Given the description of an element on the screen output the (x, y) to click on. 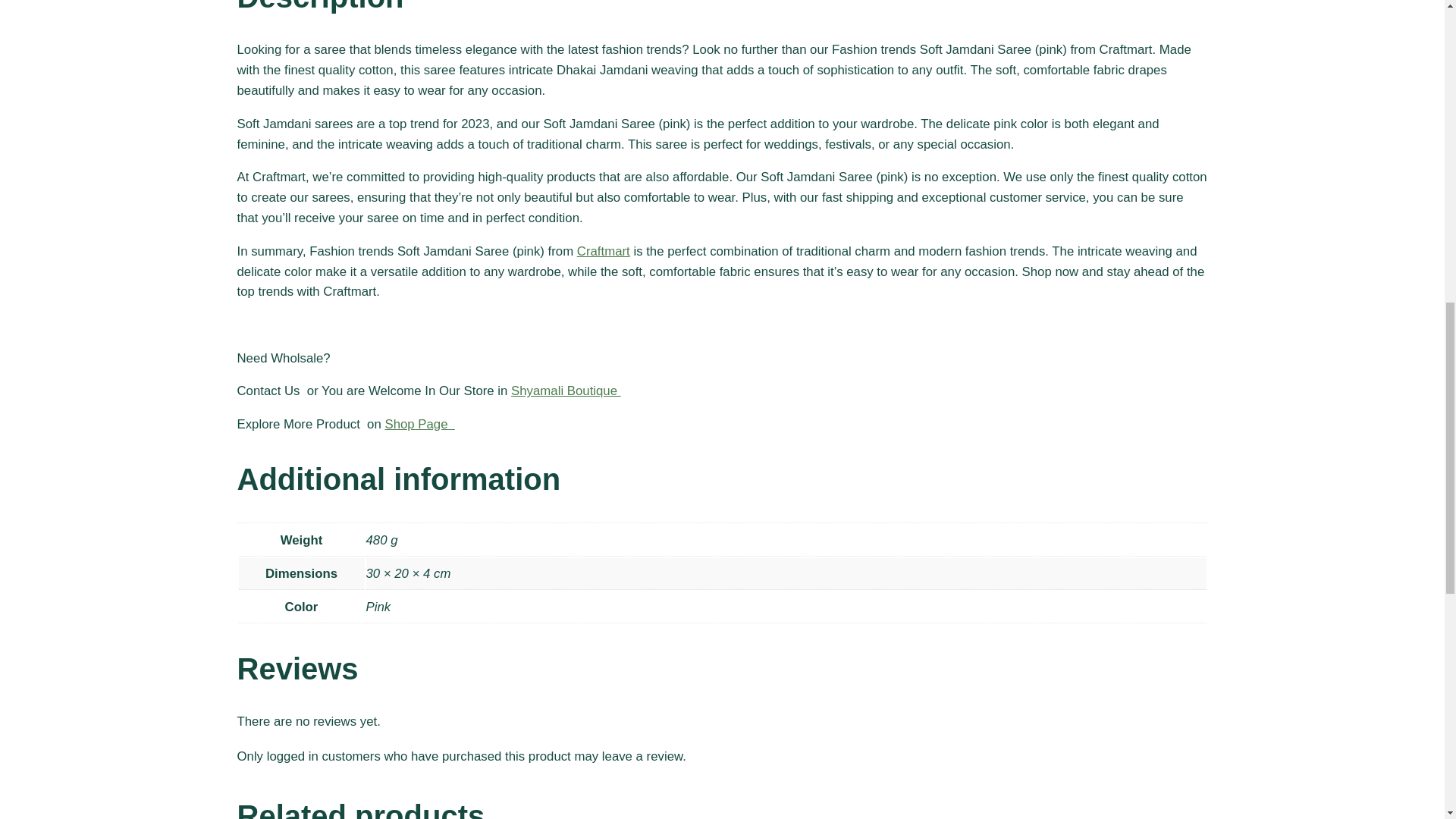
Shyamali Boutique  (566, 391)
Shop Page   (419, 423)
Craftmart (603, 251)
